Given the description of an element on the screen output the (x, y) to click on. 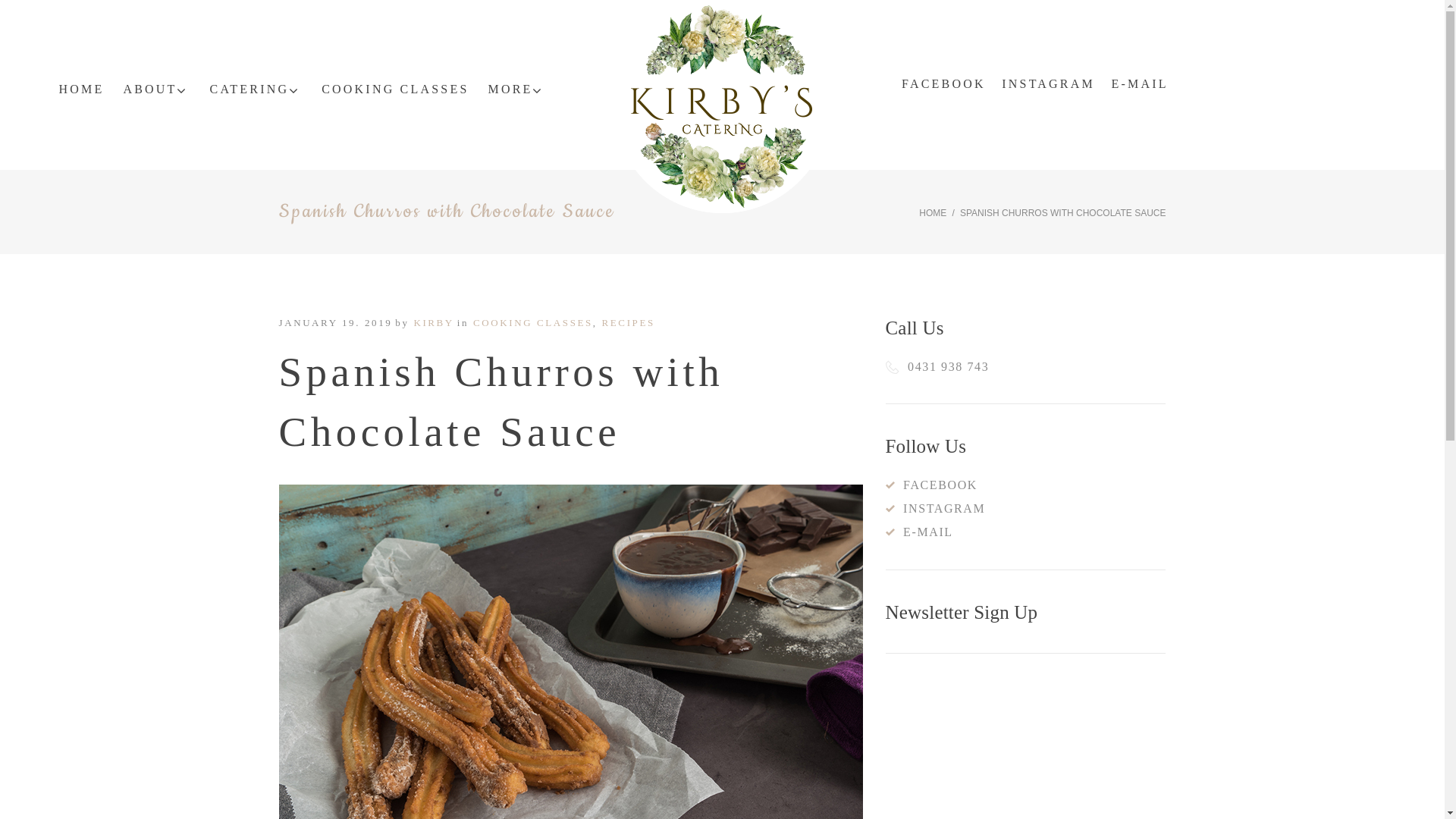
COOKING CLASSES Element type: text (533, 322)
E-MAIL Element type: text (919, 531)
JANUARY 19. 2019 Element type: text (335, 322)
FACEBOOK Element type: text (943, 84)
MORE Element type: text (516, 89)
HOME Element type: text (80, 89)
FACEBOOK Element type: text (931, 484)
COOKING CLASSES Element type: text (394, 89)
E-MAIL Element type: text (1139, 84)
HOME Element type: text (932, 212)
INSTAGRAM Element type: text (935, 508)
CATERING Element type: text (256, 89)
ABOUT Element type: text (156, 89)
INSTAGRAM Element type: text (1048, 84)
RECIPES Element type: text (628, 322)
KIRBY Element type: text (433, 322)
